Given the description of an element on the screen output the (x, y) to click on. 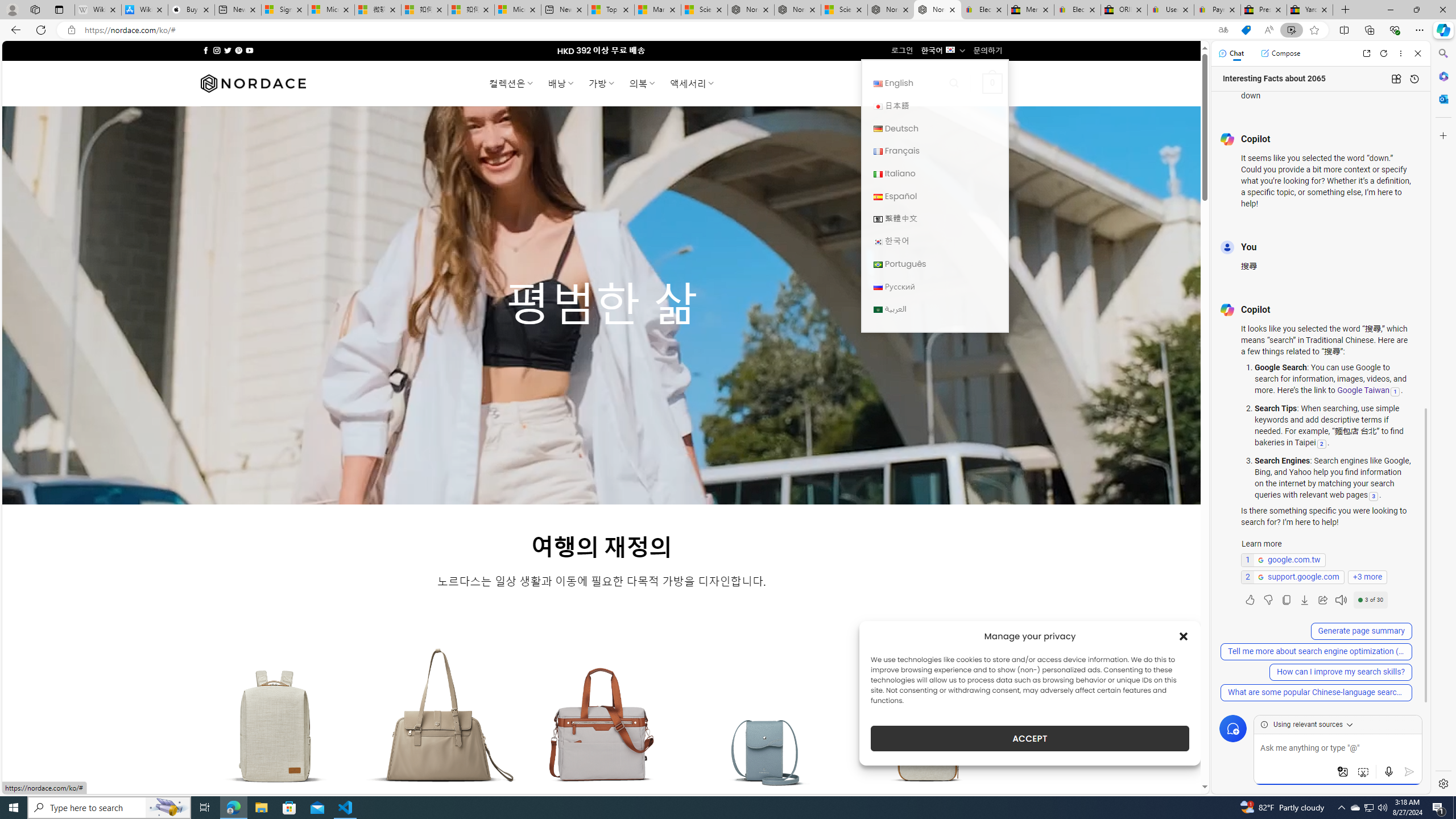
ACCEPT (1029, 738)
Class: cmplz-close (1183, 636)
  0   (992, 83)
Follow on Facebook (205, 50)
Nordace - Home (937, 9)
Follow on Twitter (227, 50)
